Given the description of an element on the screen output the (x, y) to click on. 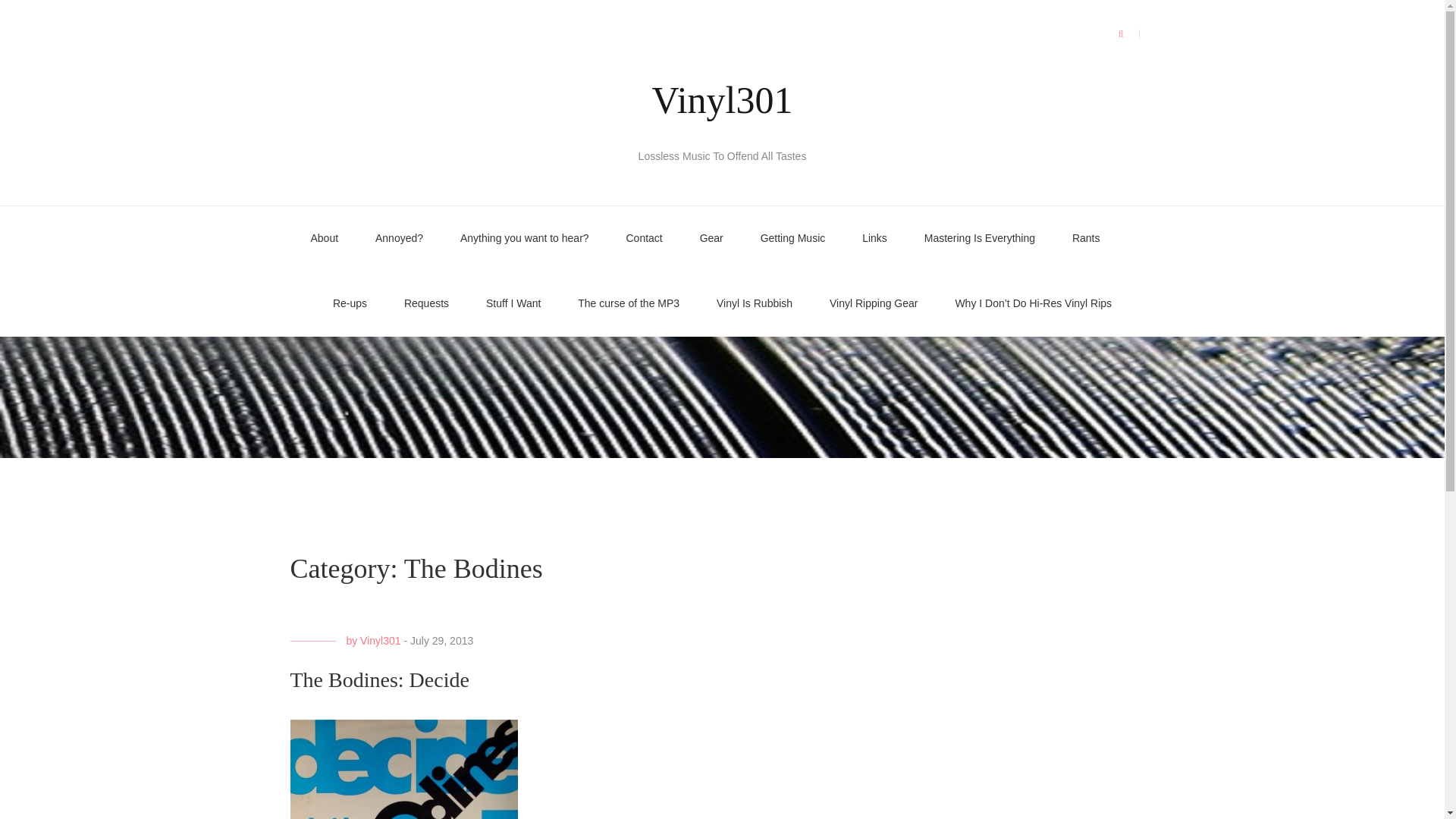
Mastering Is Everything (979, 238)
Anything you want to hear? (524, 238)
Vinyl Ripping Gear (873, 303)
Vinyl301 (379, 640)
July 29, 2013 (441, 640)
Vinyl Is Rubbish (754, 303)
The Bodines: Decide (378, 679)
The curse of the MP3 (628, 303)
Getting Music (792, 238)
Vinyl301 (722, 99)
